Given the description of an element on the screen output the (x, y) to click on. 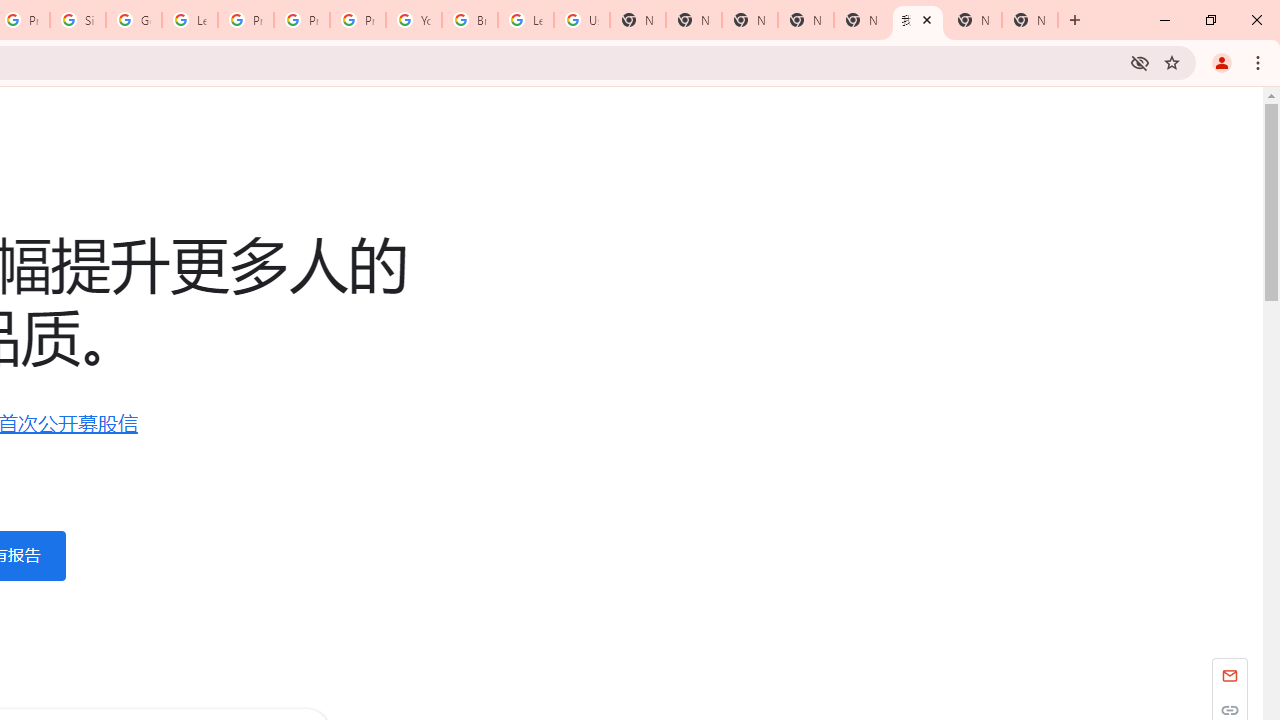
New Tab (749, 20)
